Given the description of an element on the screen output the (x, y) to click on. 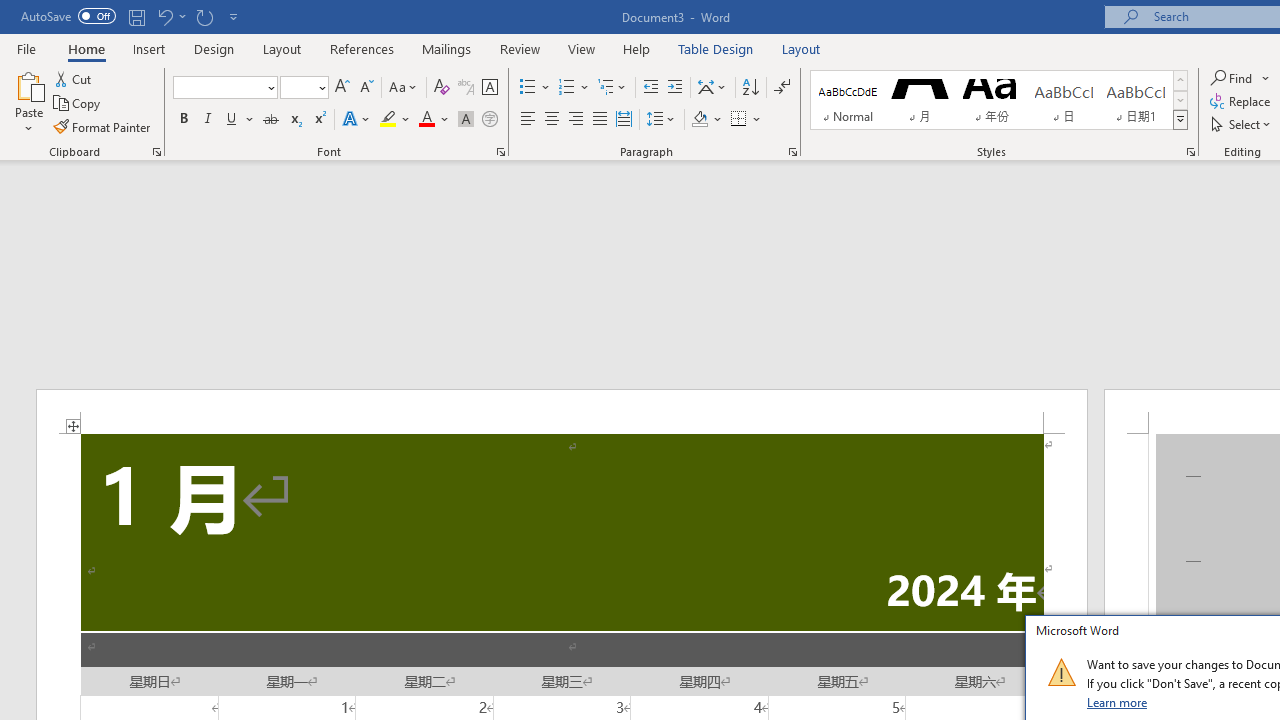
System (10, 11)
Format Painter (103, 126)
Justify (599, 119)
